Given the description of an element on the screen output the (x, y) to click on. 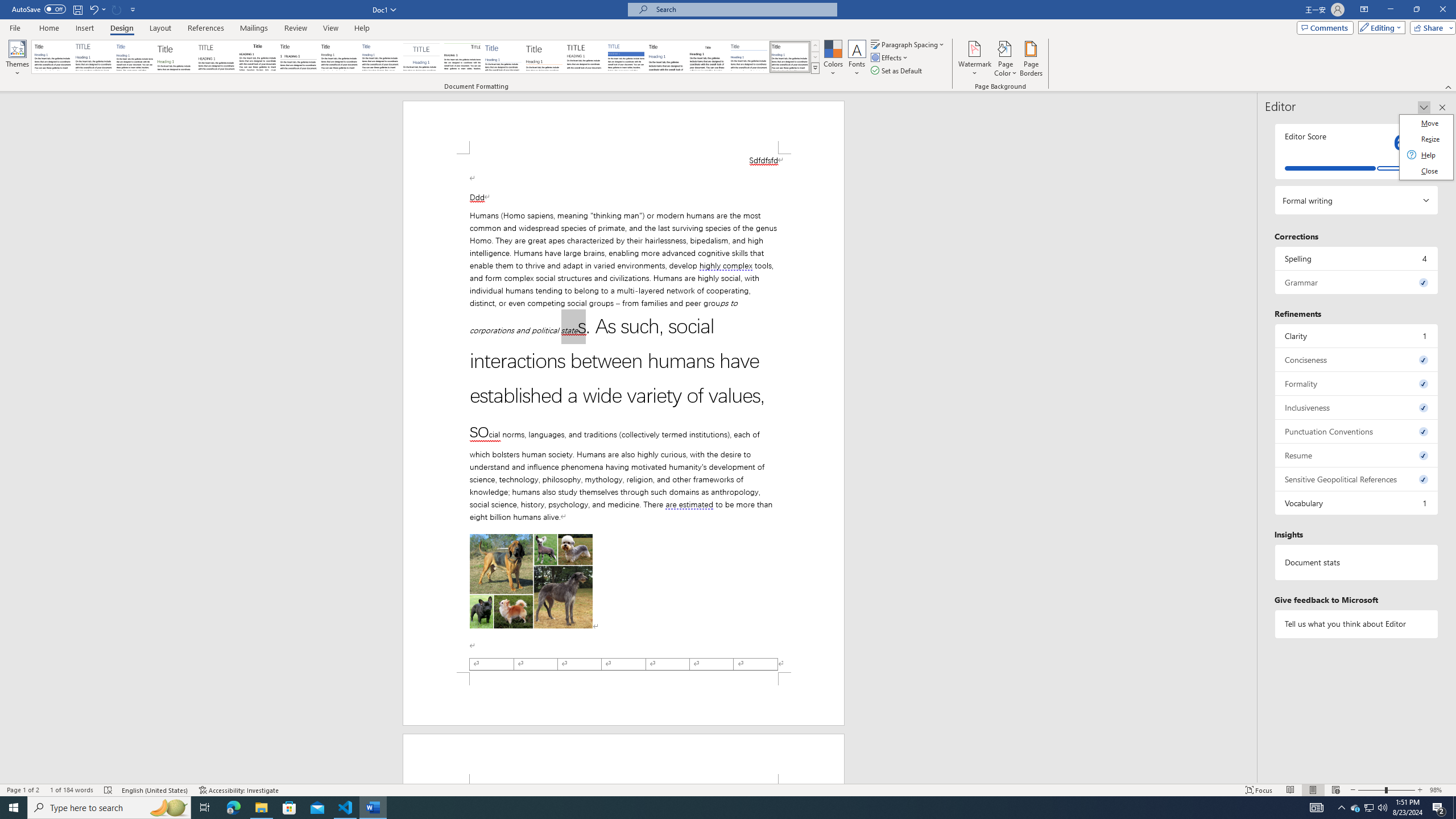
Word - 1 running window (373, 807)
Page Borders... (1031, 58)
Page Number Page 1 of 2 (22, 790)
Undo Apply Quick Style Set (96, 9)
Document statistics (1356, 561)
Lines (Simple) (503, 56)
Basic (Simple) (135, 56)
